Given the description of an element on the screen output the (x, y) to click on. 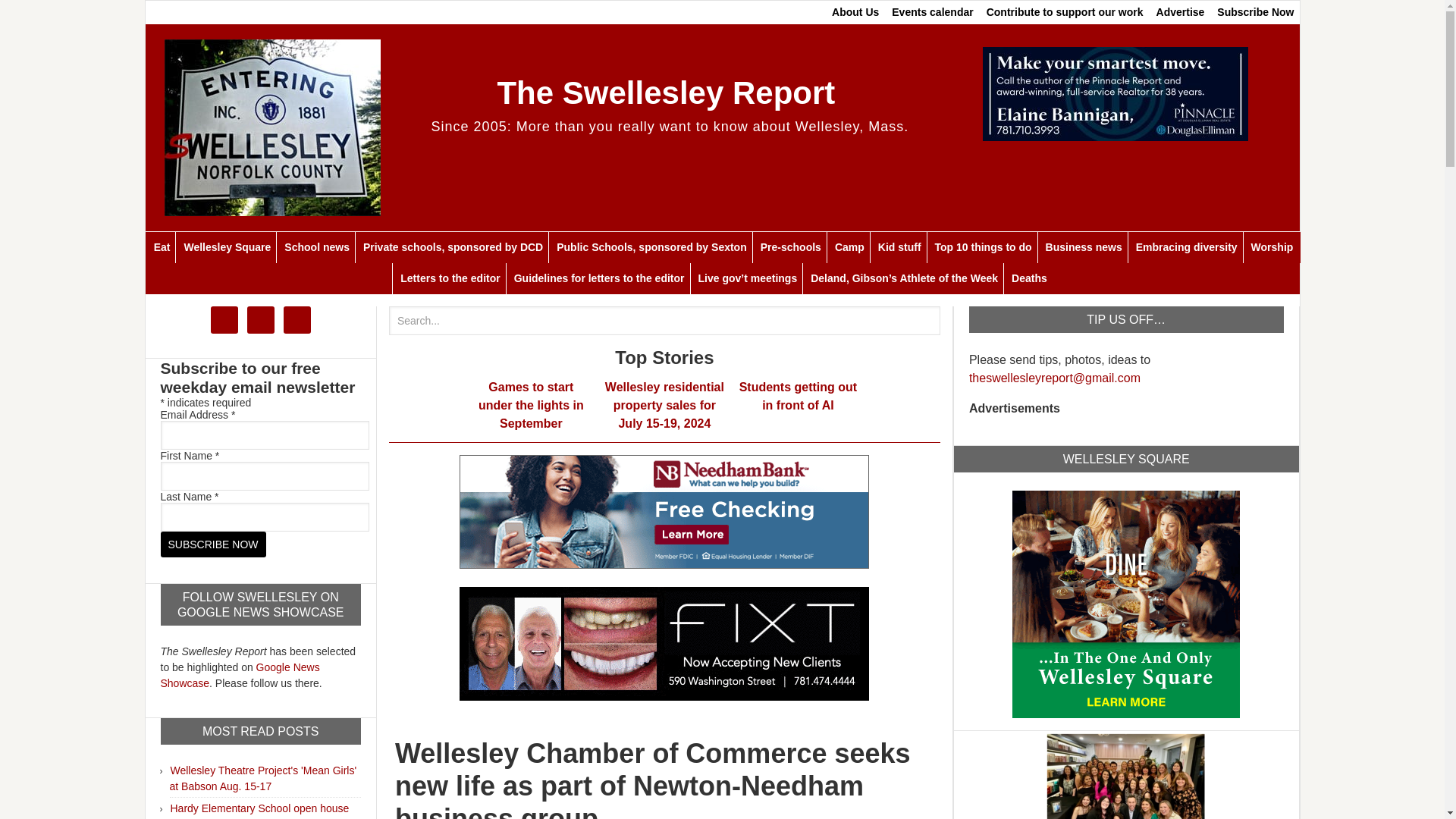
Wellesley Square (226, 246)
Private schools, sponsored by DCD (452, 246)
Students getting out in front of AI (798, 395)
Public Schools, sponsored by Sexton (651, 246)
Wellesley residential property sales for July 15-19, 2024 (664, 404)
Embracing diversity (1185, 246)
School news (316, 246)
Subscribe Now (213, 544)
Games to start under the lights in September (531, 404)
